Given the description of an element on the screen output the (x, y) to click on. 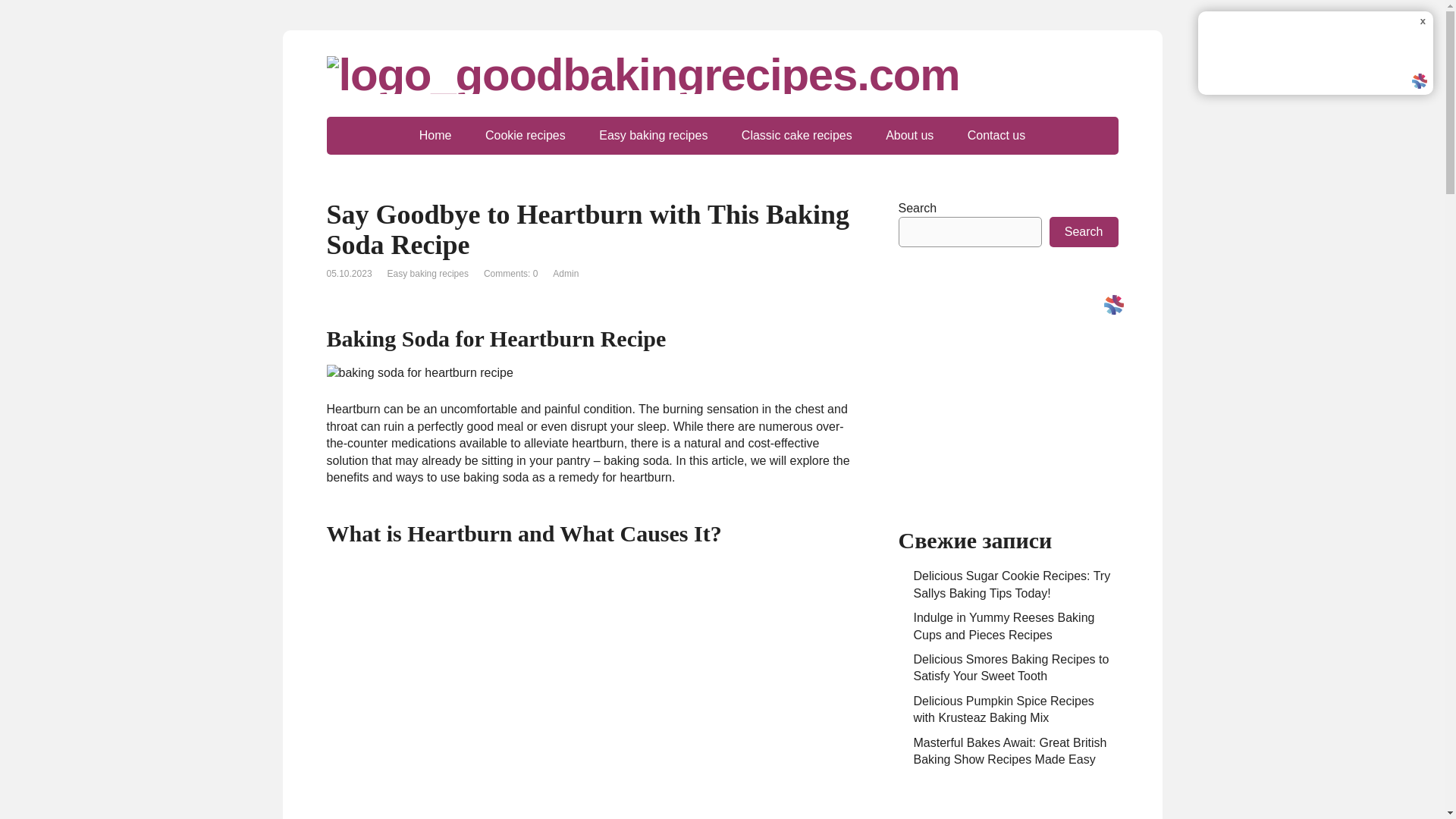
baking soda for heartburn recipe (419, 372)
Classic cake recipes (796, 135)
Search (1083, 232)
Delicious Pumpkin Spice Recipes with Krusteaz Baking Mix (1002, 708)
Indulge in Yummy Reeses Baking Cups and Pieces Recipes (1003, 625)
Cookie recipes (525, 135)
Delicious Smores Baking Recipes to Satisfy Your Sweet Tooth (1010, 667)
Home (435, 135)
About us (909, 135)
Contact us (996, 135)
Comments: 0 (510, 273)
Easy baking recipes (652, 135)
Easy baking recipes (427, 273)
